Given the description of an element on the screen output the (x, y) to click on. 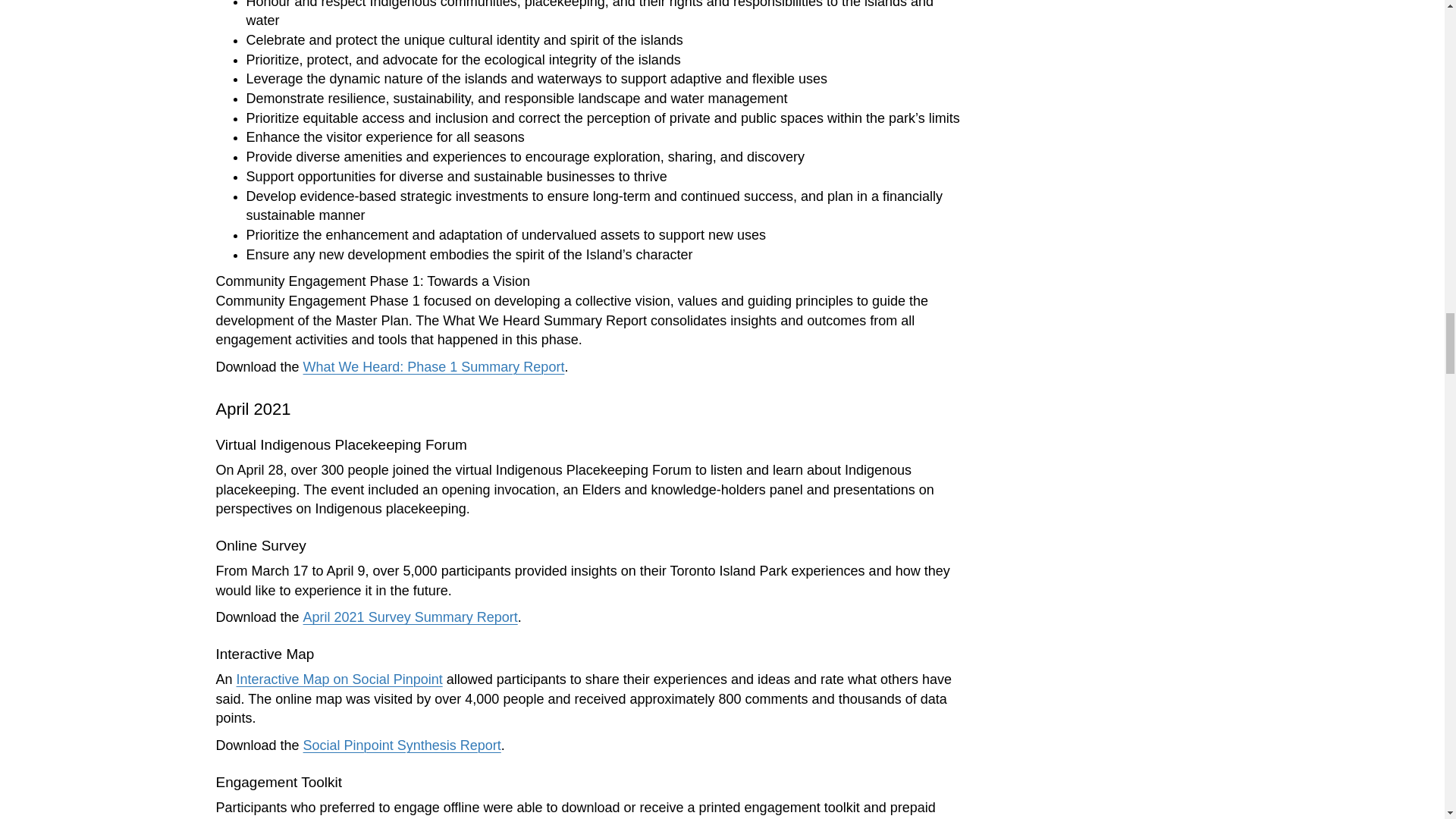
Social Pinpoint Synthesis Report (401, 744)
April 2021 Survey Summary Report (410, 616)
Interactive Map on Social Pinpoint (338, 679)
What We Heard: Phase 1 Summary Report (433, 366)
